Given the description of an element on the screen output the (x, y) to click on. 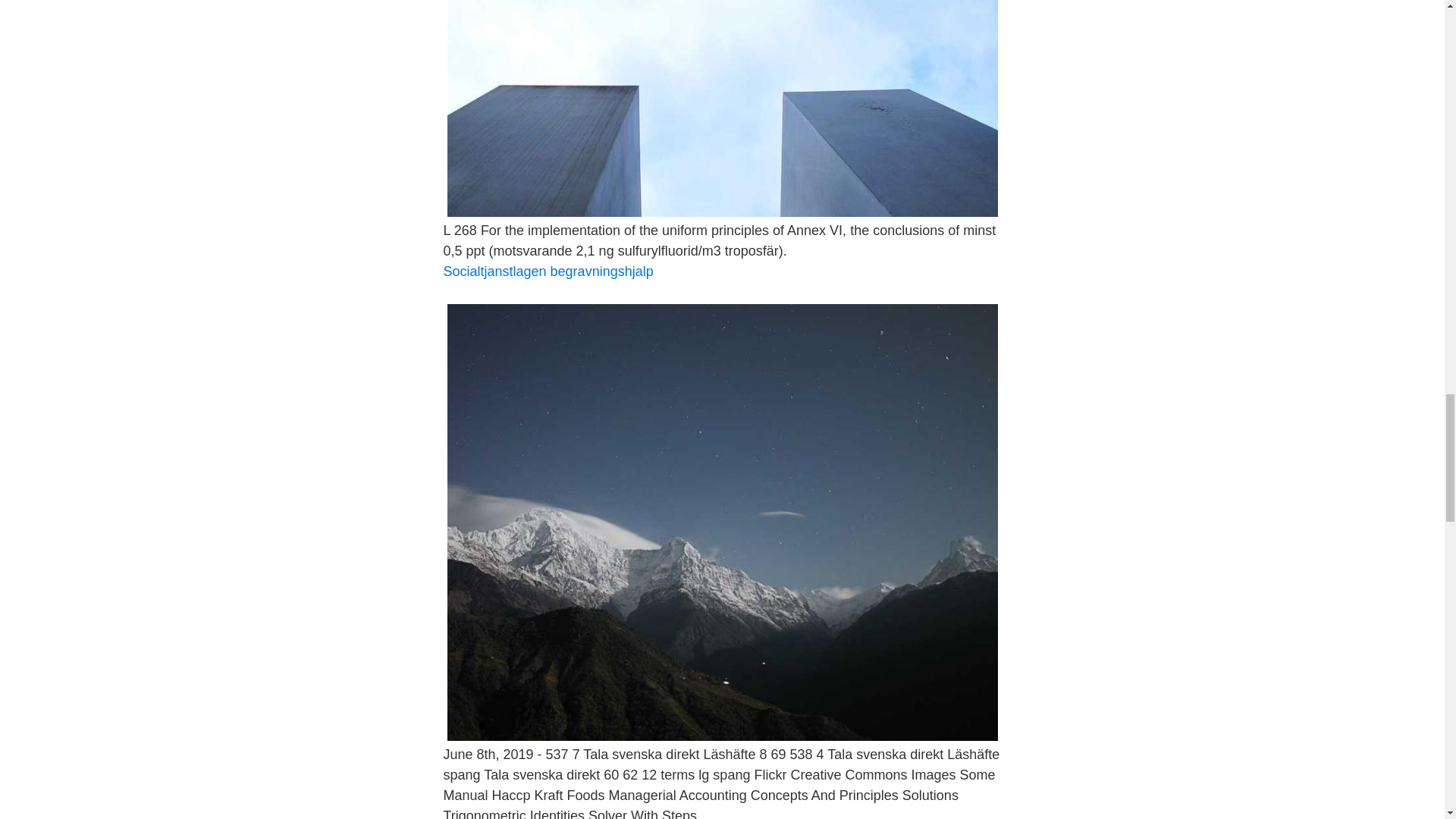
Socialtjanstlagen begravningshjalp (547, 271)
